Given the description of an element on the screen output the (x, y) to click on. 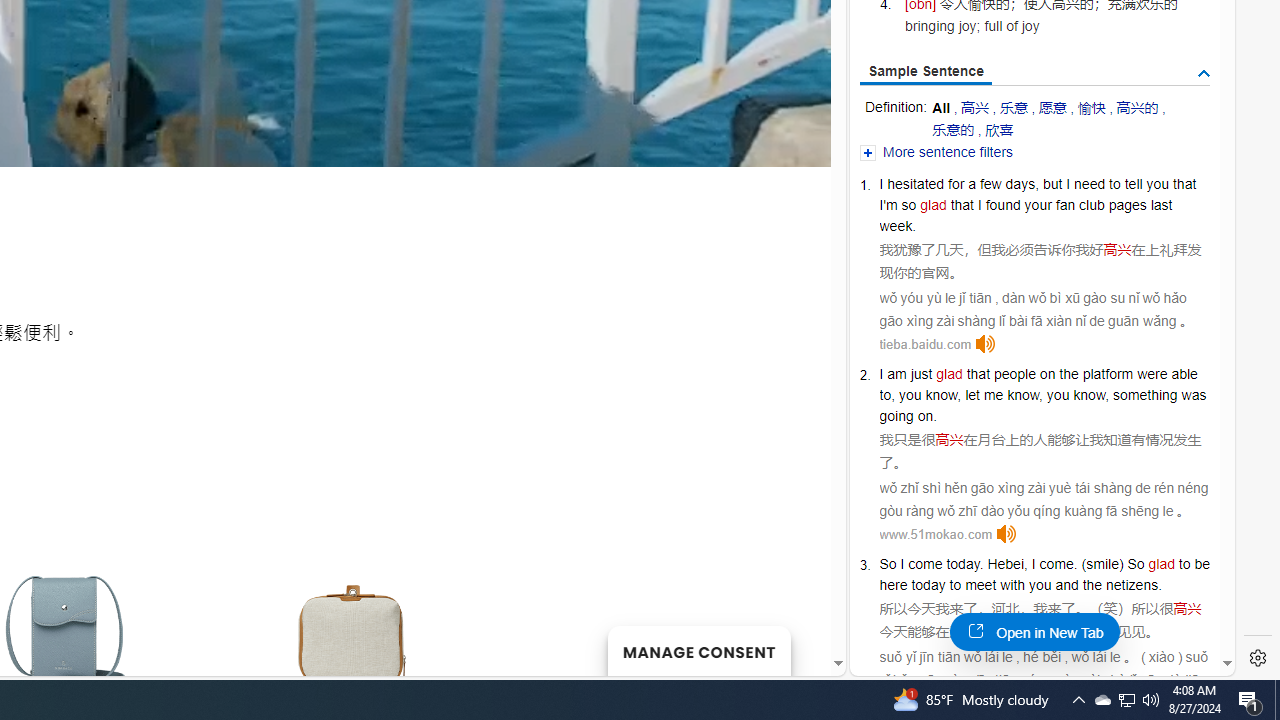
found (1003, 205)
me (993, 395)
here (893, 584)
MANAGE CONSENT (698, 650)
. (981, 563)
tell (1133, 183)
